Given the description of an element on the screen output the (x, y) to click on. 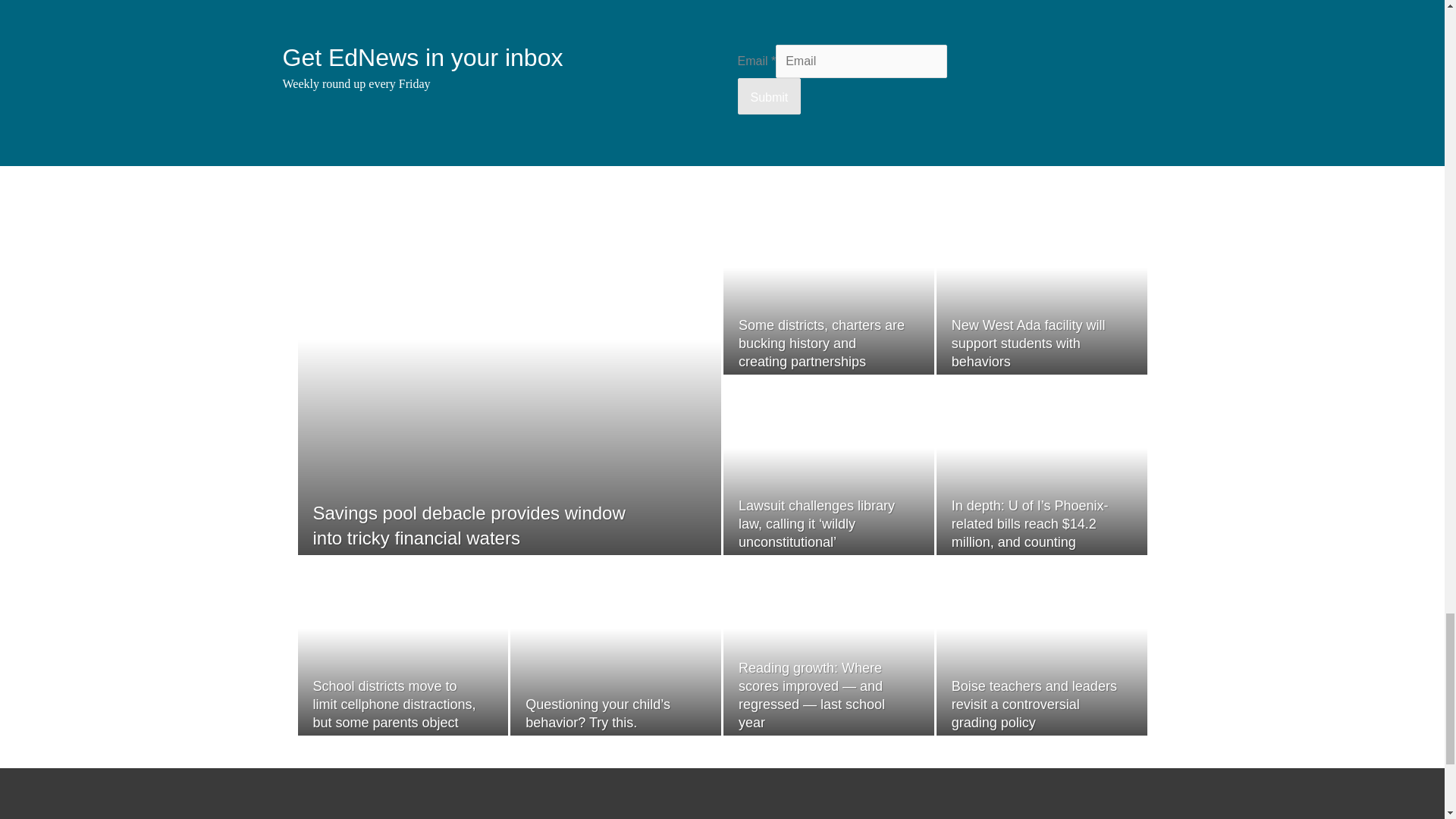
Submit (768, 95)
New West Ada facility will support students with behaviors (1028, 343)
